Given the description of an element on the screen output the (x, y) to click on. 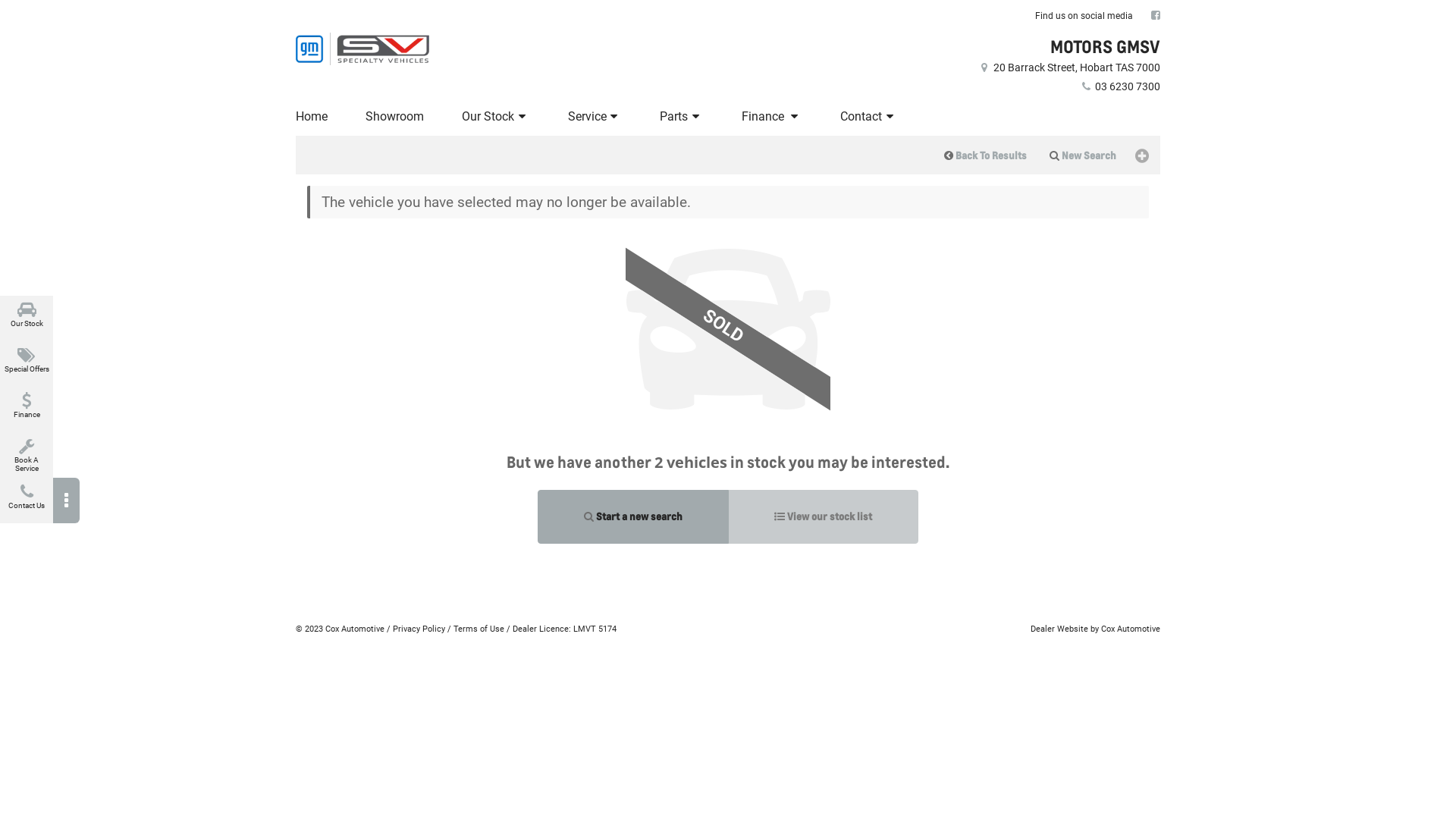
Book A Service Element type: text (26, 455)
Showroom Element type: text (394, 116)
Home Element type: text (313, 116)
Privacy Policy Element type: text (418, 628)
Contact Element type: text (868, 116)
Start a new search Element type: text (632, 516)
Dealer Website Element type: text (1059, 628)
Contact Us Element type: text (26, 500)
Our Stock Element type: text (26, 318)
03 6230 7300 Element type: text (1119, 86)
Parts Element type: text (681, 116)
New Search Element type: text (1082, 155)
Service Element type: text (595, 116)
Motors Facebook Element type: hover (1155, 14)
Our Stock Element type: text (495, 116)
View our stock list Element type: text (823, 516)
Special Offers Element type: text (26, 364)
Finance Element type: text (772, 116)
Finance Element type: text (26, 409)
Back To Results Element type: text (985, 155)
Terms of Use Element type: text (478, 628)
20 Barrack Street, Hobart TAS 7000 Element type: text (1068, 67)
